Given the description of an element on the screen output the (x, y) to click on. 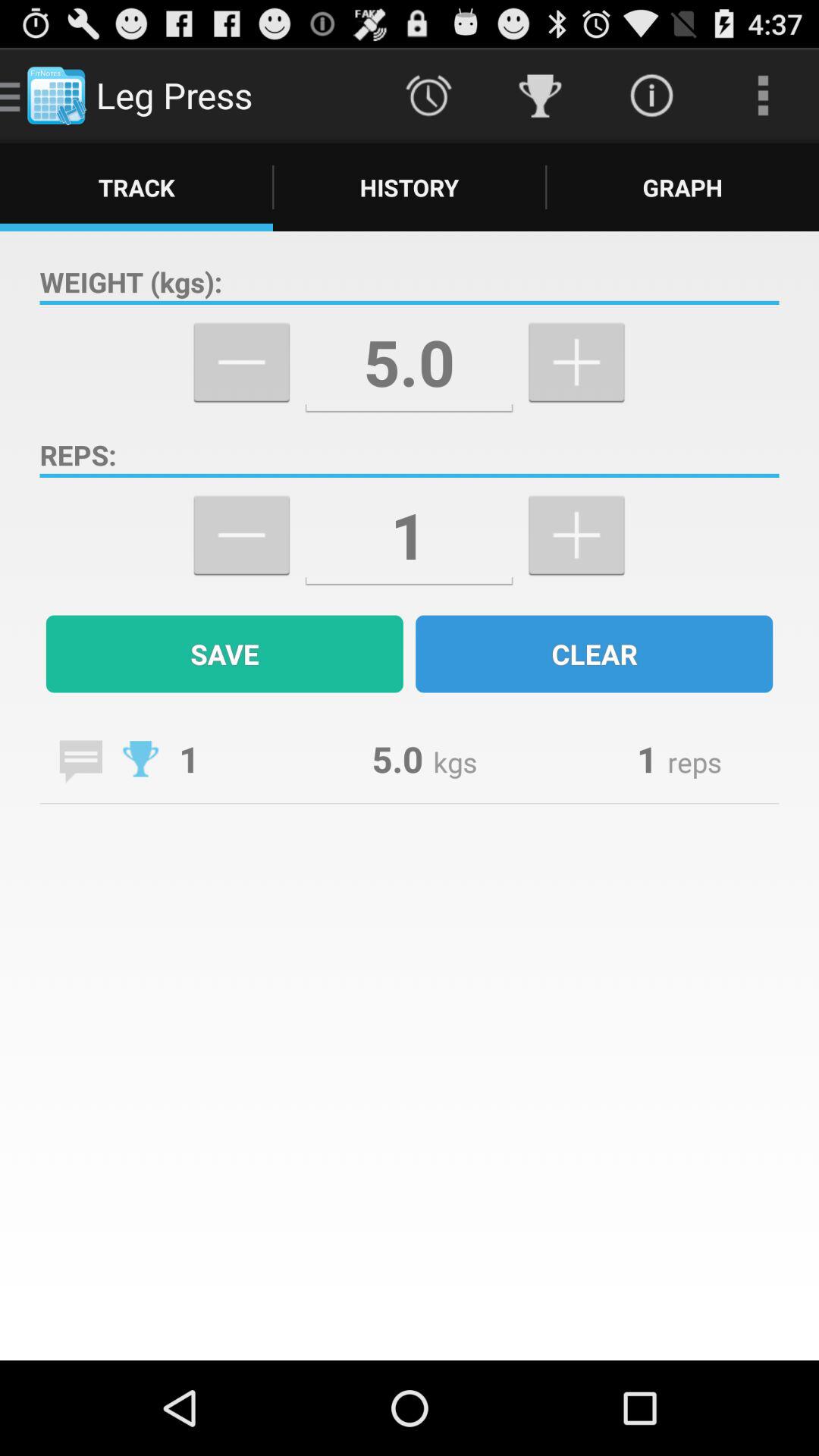
adds a comment (80, 761)
